Given the description of an element on the screen output the (x, y) to click on. 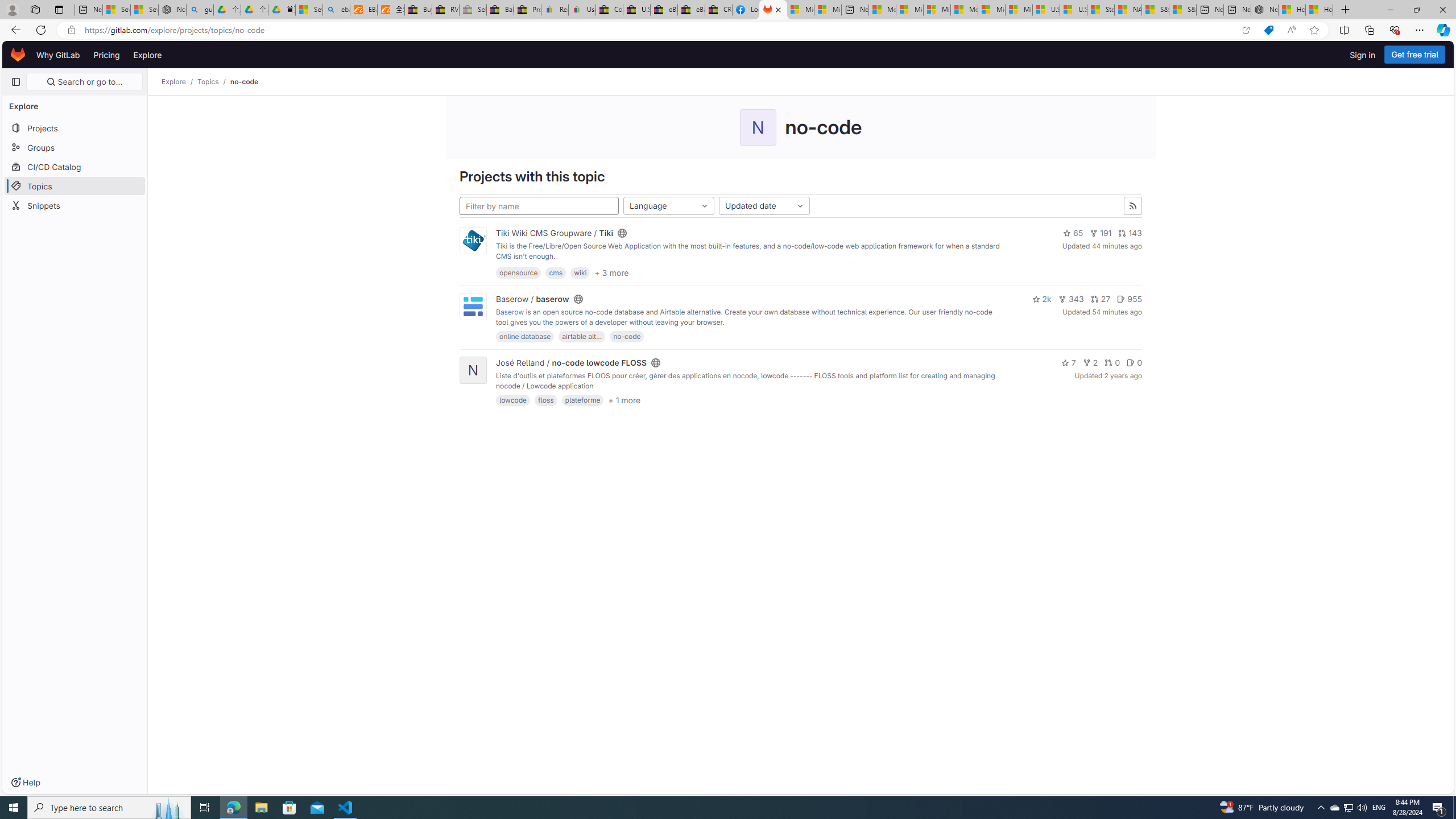
Filter by name (539, 205)
Projects (74, 127)
65 (1072, 232)
7 (1068, 362)
Explore (146, 54)
0 (1133, 362)
Groups (74, 147)
Explore (173, 81)
Homepage (17, 54)
